Given the description of an element on the screen output the (x, y) to click on. 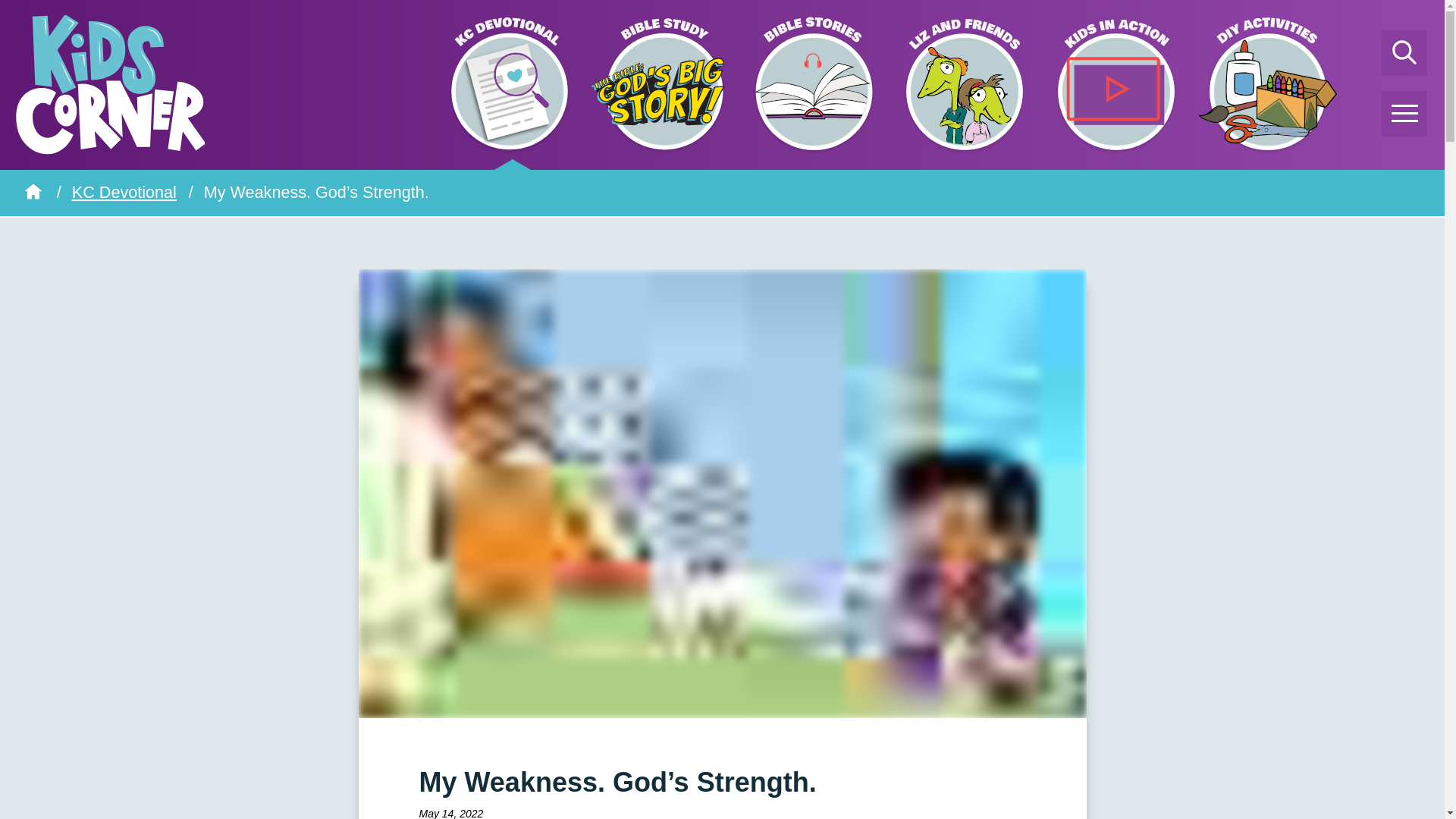
Open Menu (1403, 113)
Home (33, 191)
Liz and Friends (964, 84)
Search titles, topics or bible verses (1403, 53)
Bible Stories (812, 84)
Kids In Action (1116, 84)
God's Big Story (660, 84)
Home (33, 191)
Home (33, 191)
KC Devotional (123, 191)
KC Devotional (509, 84)
Activities (1267, 84)
